Given the description of an element on the screen output the (x, y) to click on. 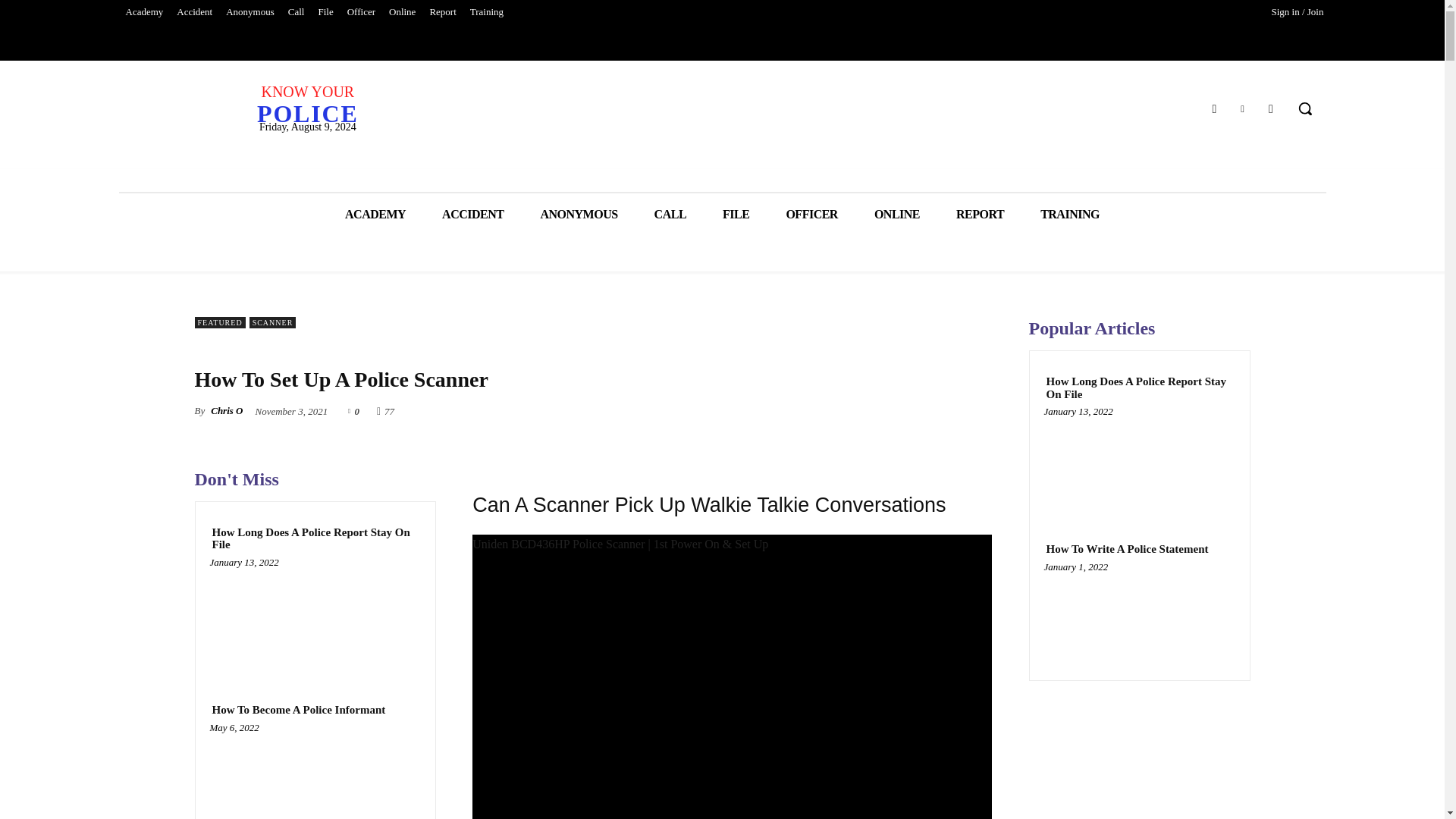
Training (487, 12)
Online (401, 12)
File (325, 12)
How Long Does A Police Report Stay On File (314, 617)
ACCIDENT (472, 214)
How To Become A Police Informant (314, 775)
How Long Does A Police Report Stay On File (314, 538)
Anonymous (250, 12)
Accident (194, 12)
Youtube (1270, 108)
